Given the description of an element on the screen output the (x, y) to click on. 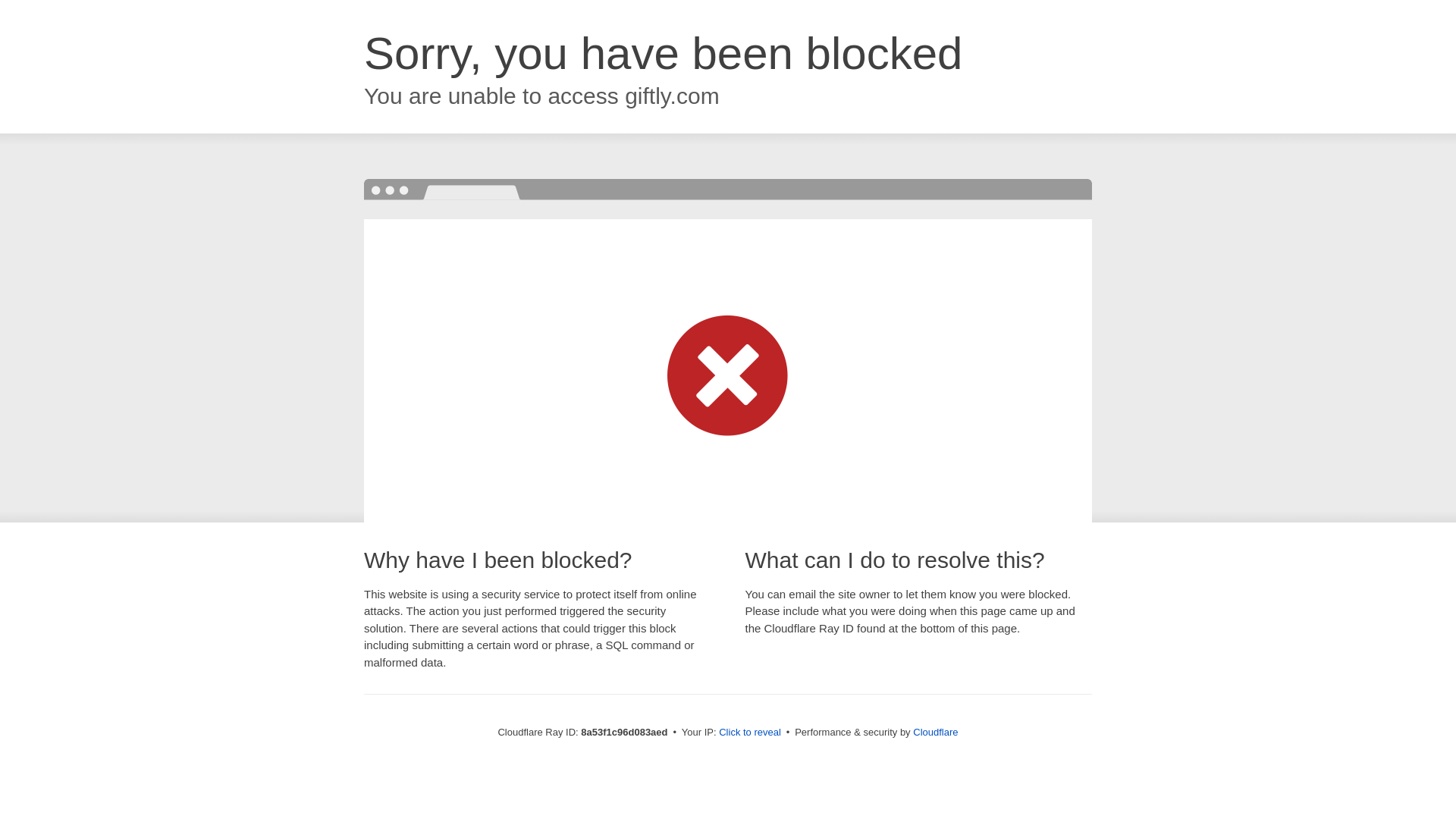
Click to reveal (749, 732)
Cloudflare (935, 731)
